Given the description of an element on the screen output the (x, y) to click on. 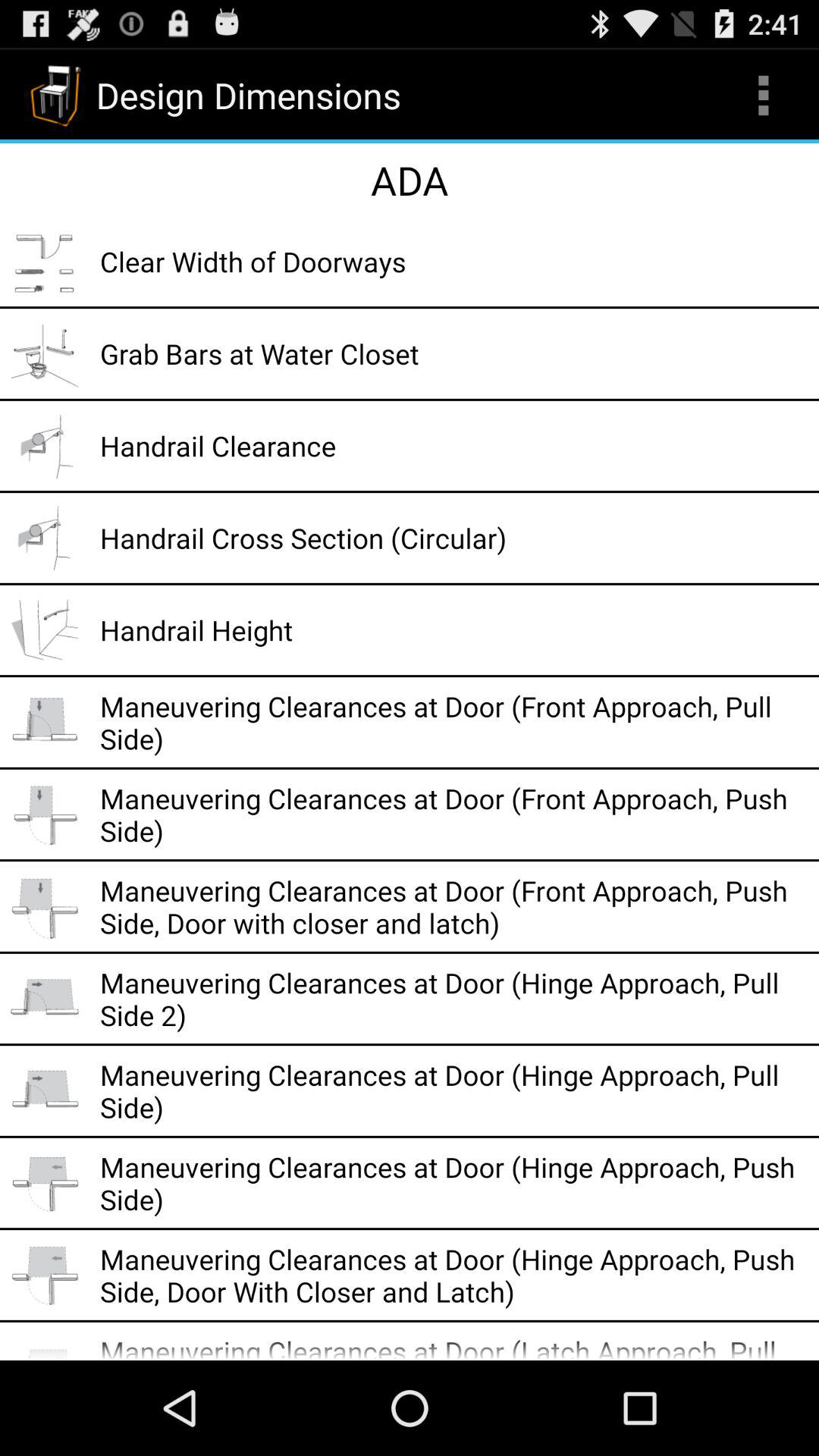
select handrail clearance app (454, 445)
